Given the description of an element on the screen output the (x, y) to click on. 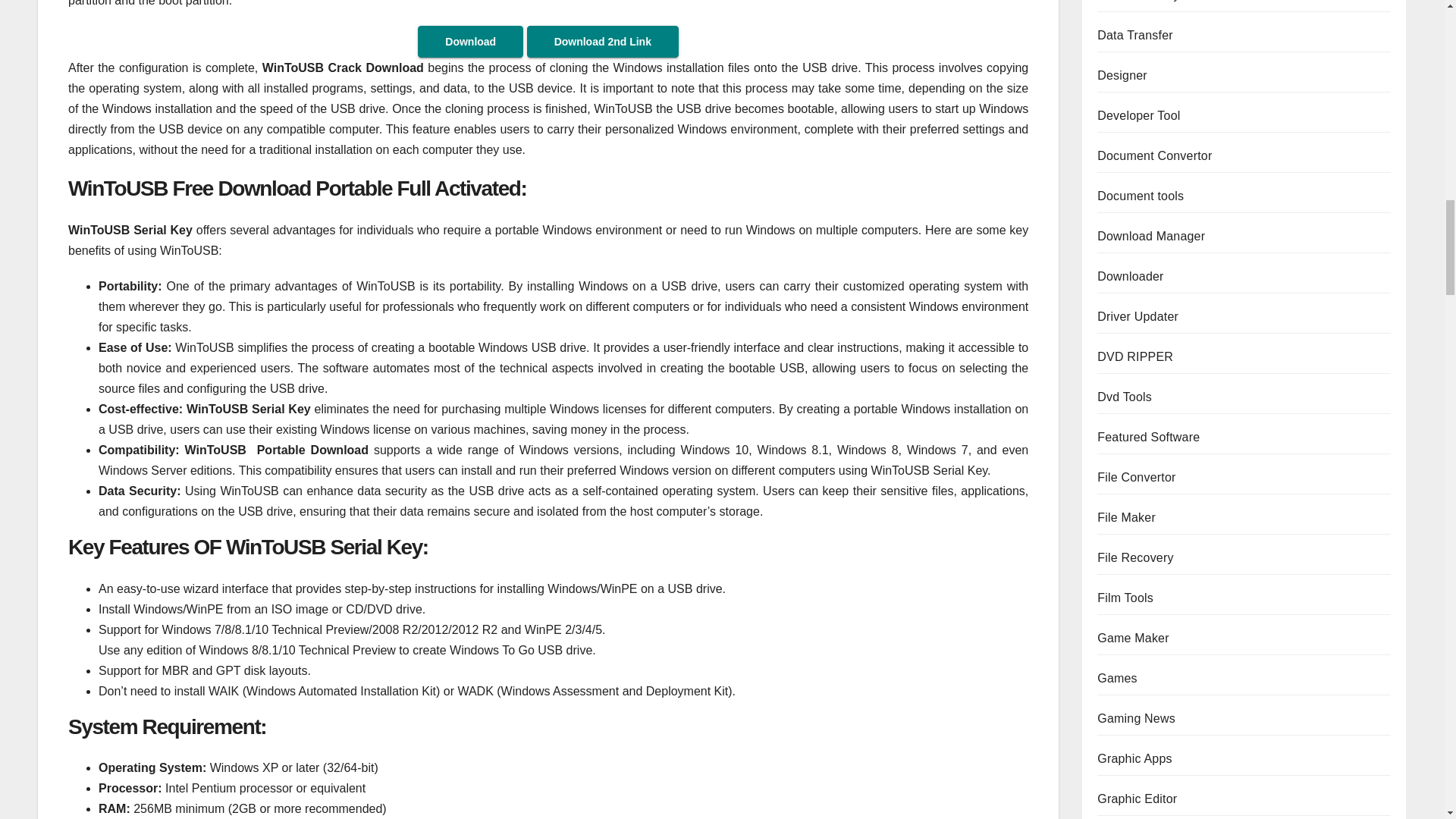
Download (469, 41)
